Given the description of an element on the screen output the (x, y) to click on. 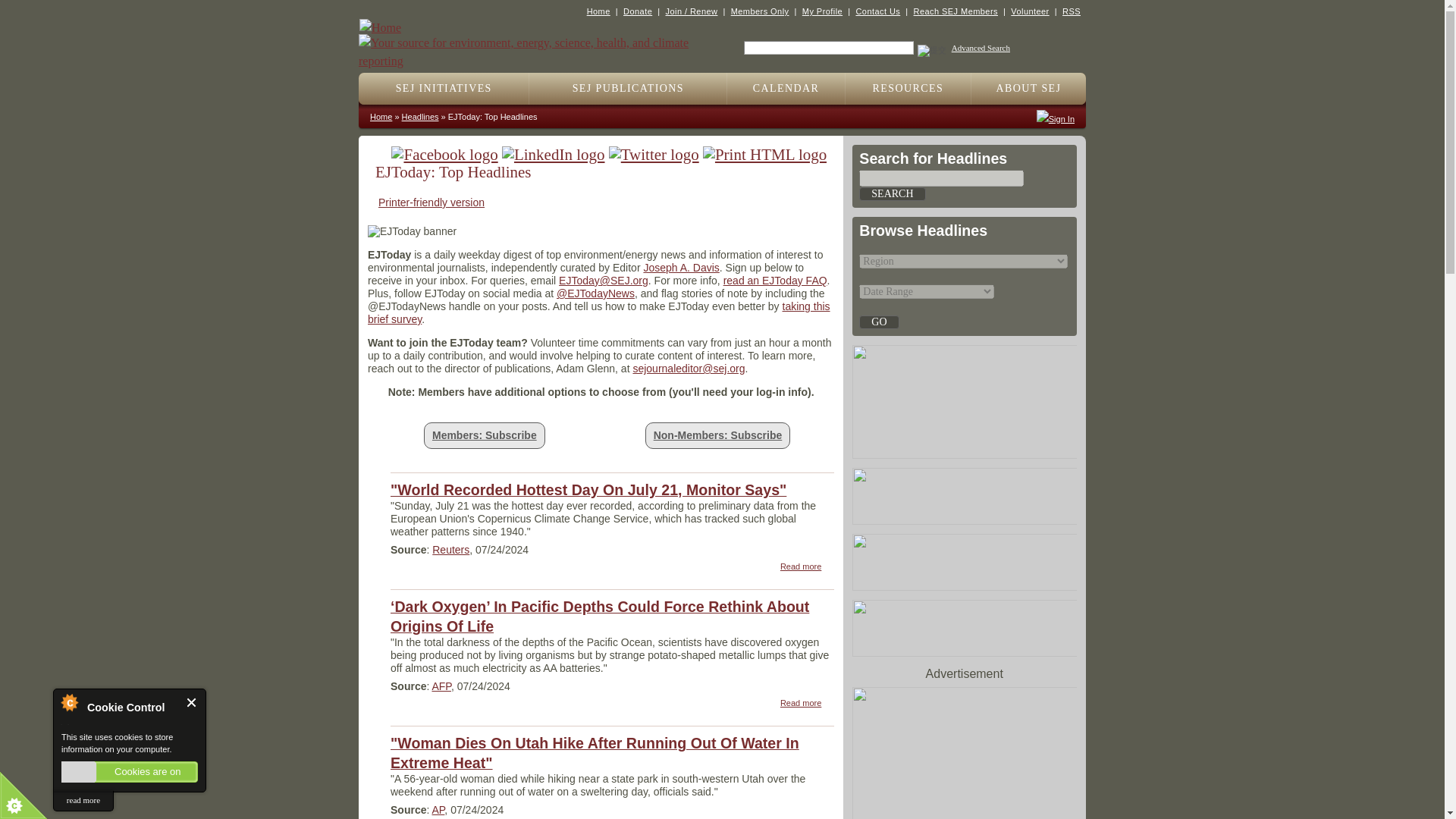
Reach SEJ Members (955, 10)
SEJ PUBLICATIONS (627, 88)
Home (540, 44)
My Profile (822, 10)
Contact Us (877, 10)
Close (191, 702)
Donate (637, 10)
Home (598, 10)
Enter the terms you wish to search for. (829, 47)
Advanced Search (981, 47)
Members Only (759, 10)
read more (82, 801)
Search (891, 193)
RSS (1071, 10)
Volunteer (1029, 10)
